Given the description of an element on the screen output the (x, y) to click on. 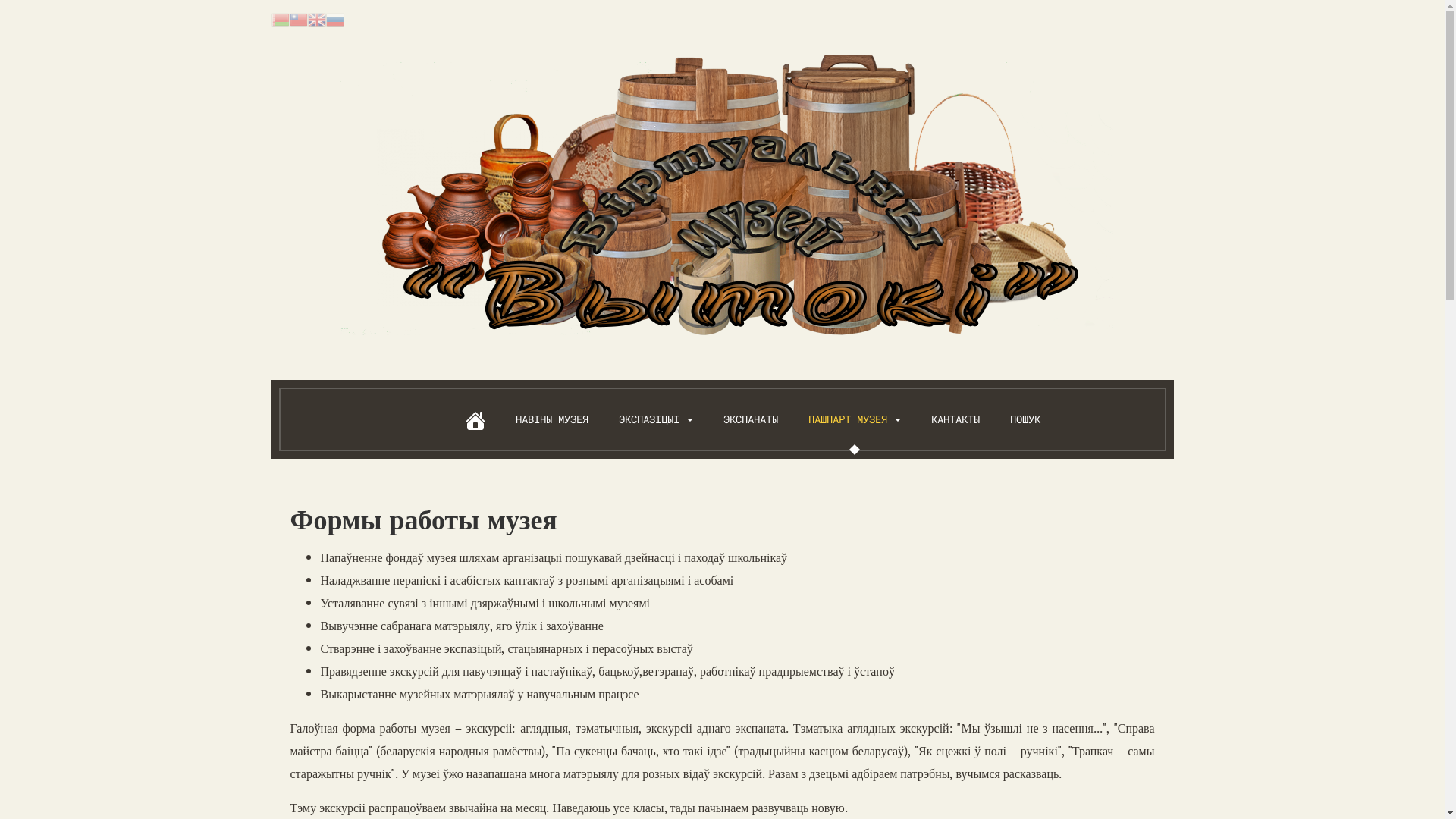
Belarusian Element type: hover (280, 18)
Chinese (Traditional) Element type: hover (298, 18)
Russian Element type: hover (335, 18)
English Element type: hover (316, 18)
